Given the description of an element on the screen output the (x, y) to click on. 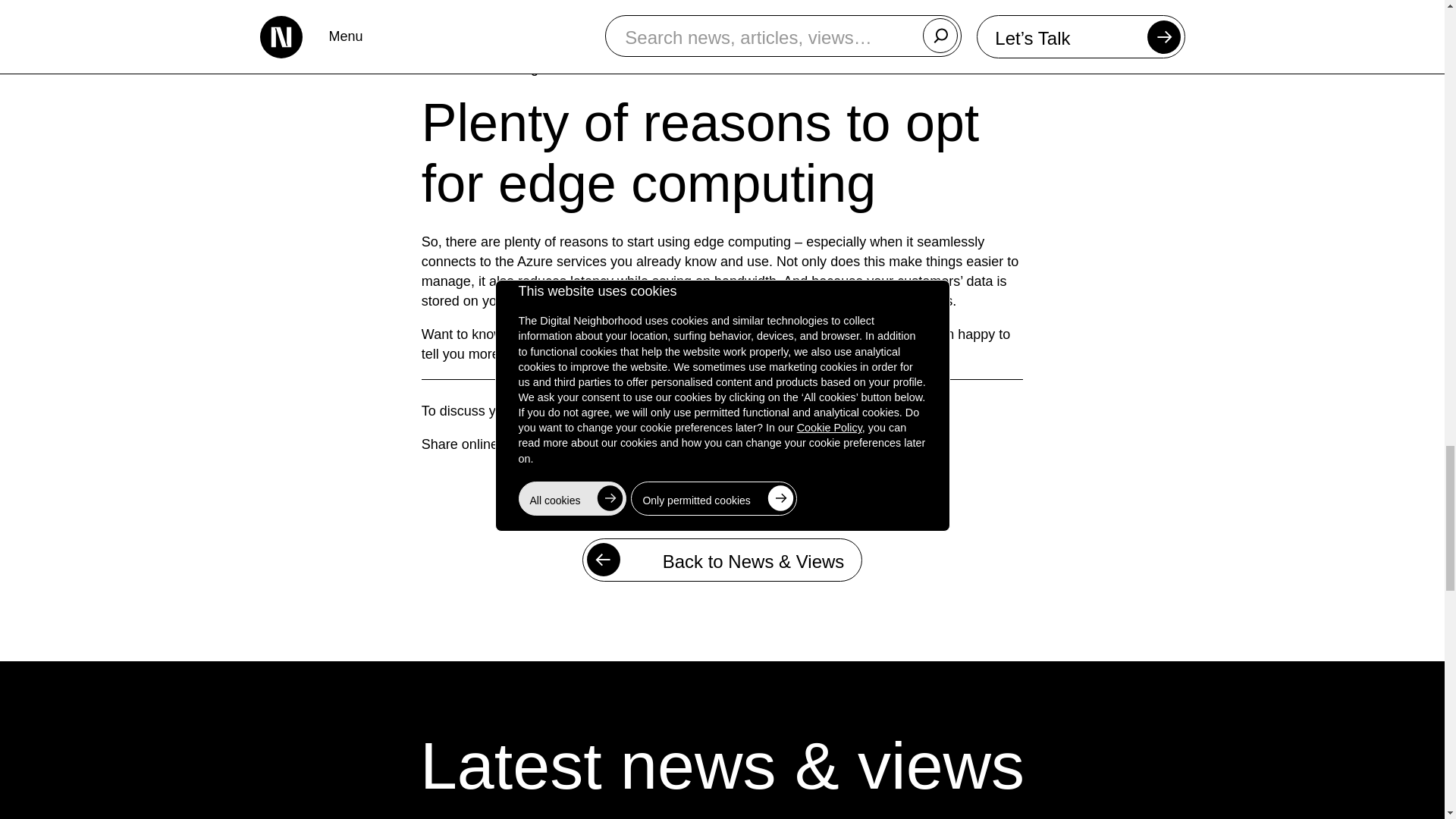
Share on Twitter (519, 445)
Share on Facebook (554, 445)
get in touch. (778, 410)
Share on Linkedin (588, 445)
Azure Kubernetes Services (783, 48)
Share on Mail (623, 445)
